Given the description of an element on the screen output the (x, y) to click on. 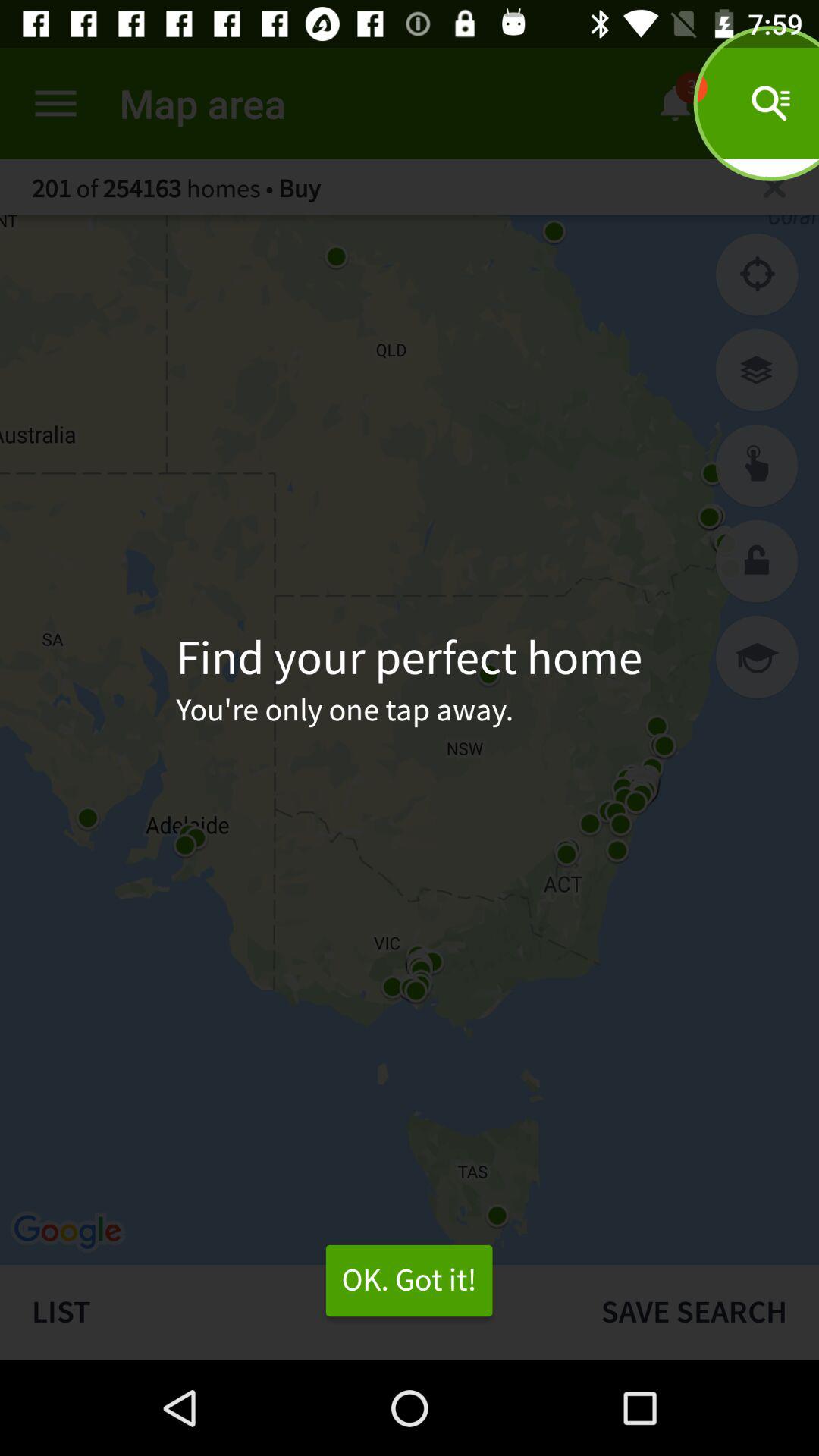
select the item next to the save search item (284, 1312)
